Given the description of an element on the screen output the (x, y) to click on. 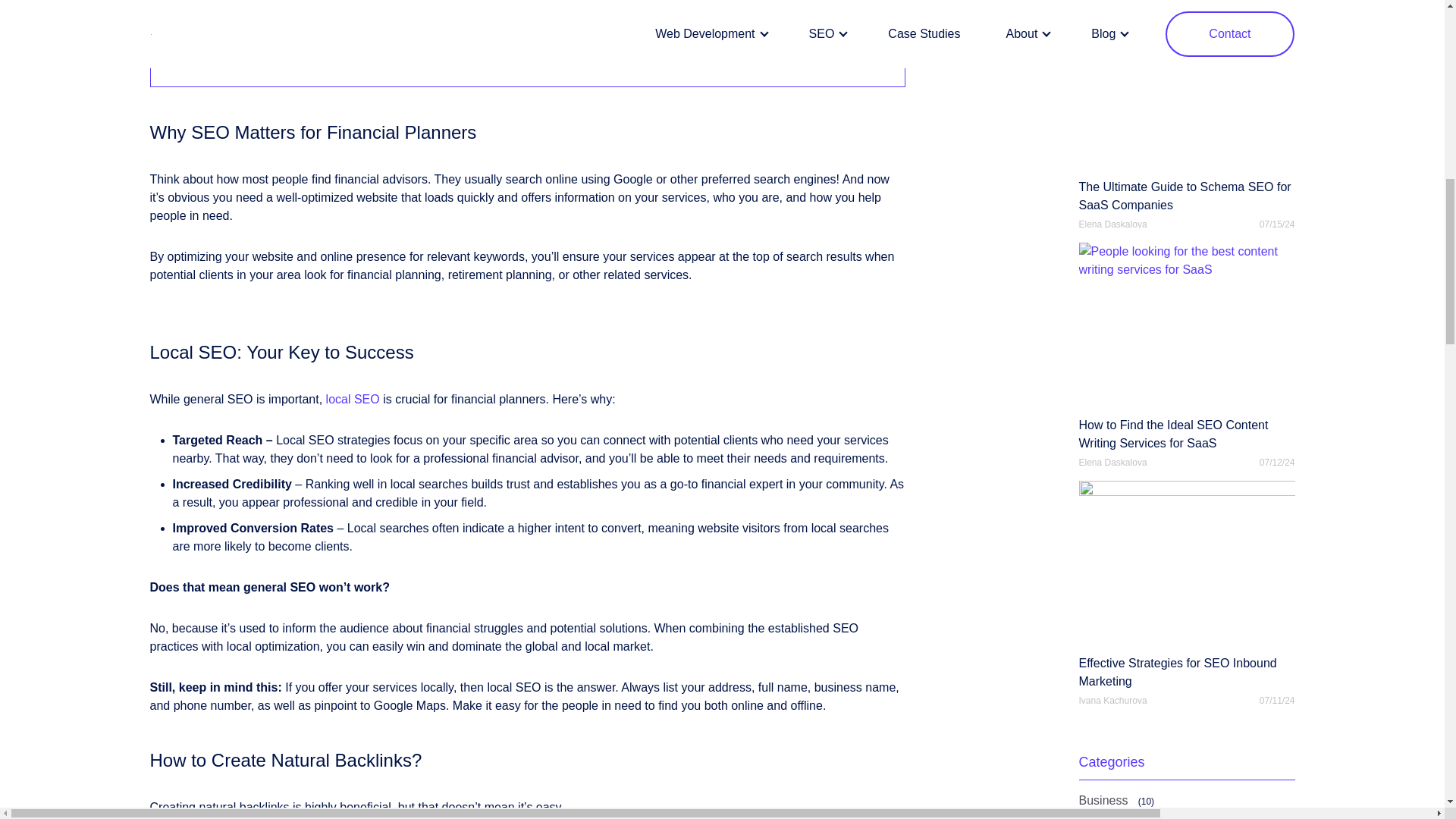
Ready to Take Control over Your SEO for Finance? (317, 17)
Actionable Local SEO Strategies (268, 1)
The Ultimate Guide to Schema SEO for SaaS Companies (1186, 109)
local SEO (353, 399)
WordPress Templates and Themes (274, 39)
Do You Need Help With Your Local SEO Efforts? (311, 61)
